Given the description of an element on the screen output the (x, y) to click on. 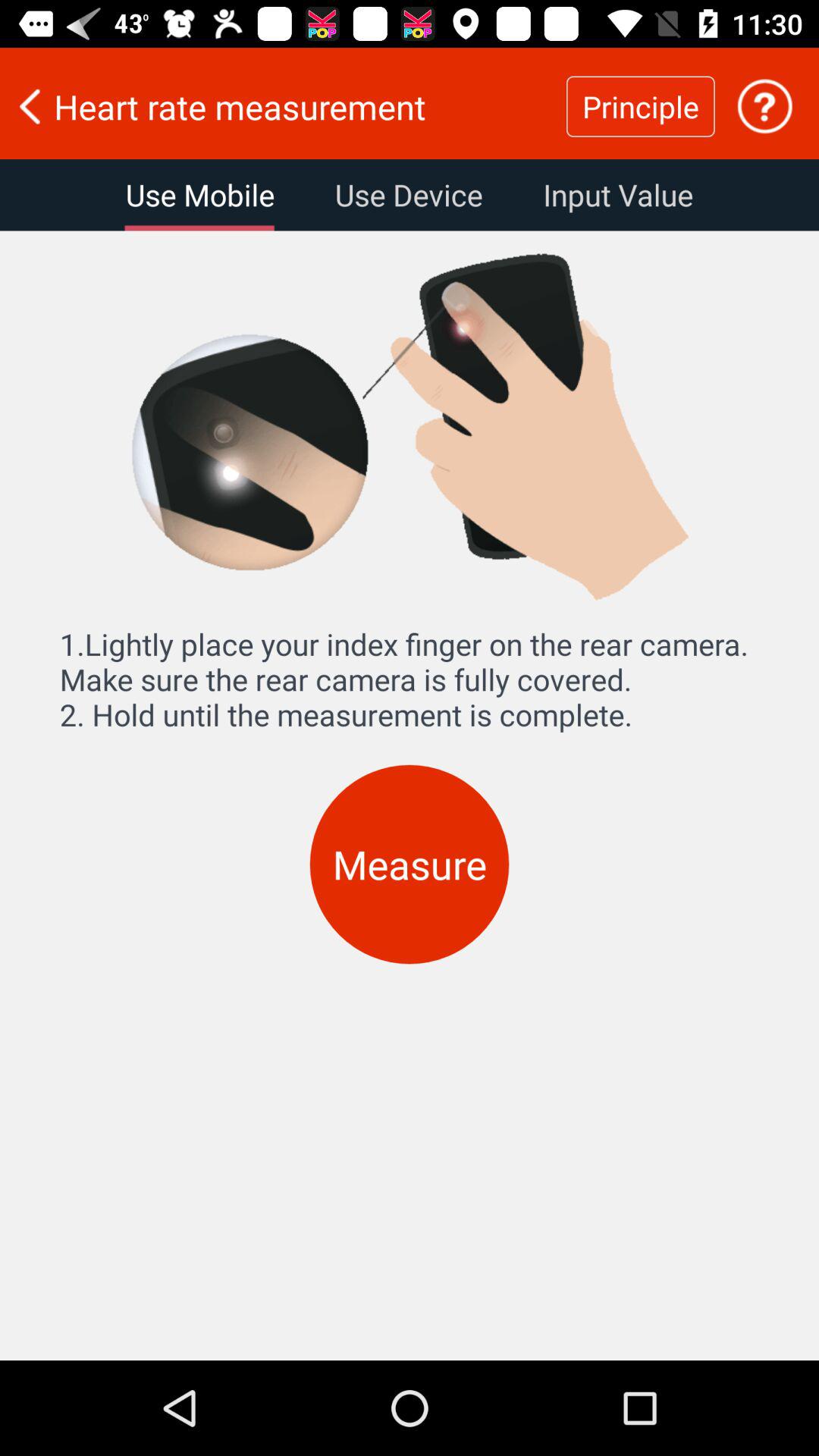
choose heart rate measurement (283, 106)
